Given the description of an element on the screen output the (x, y) to click on. 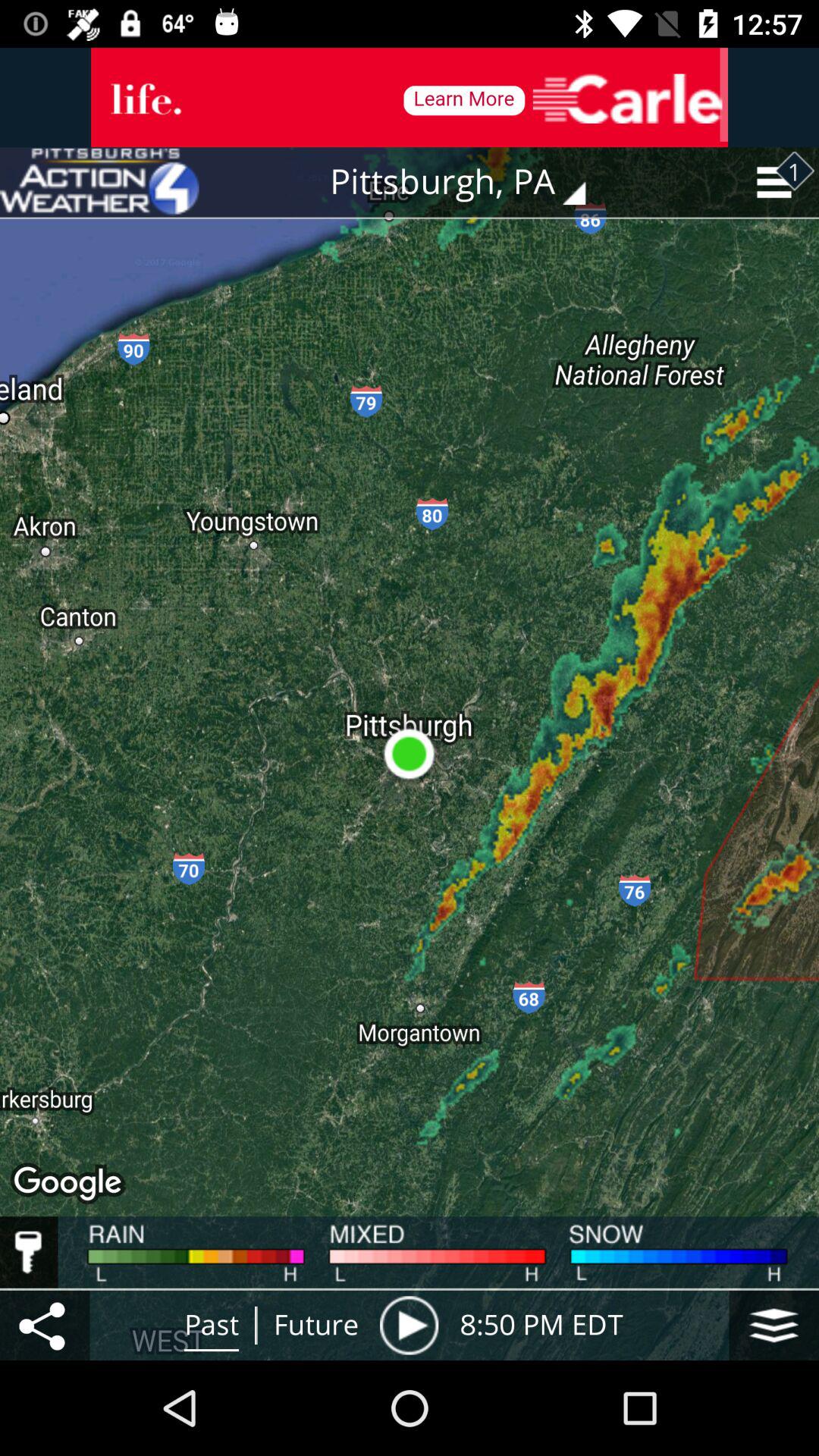
open menu (774, 1325)
